Given the description of an element on the screen output the (x, y) to click on. 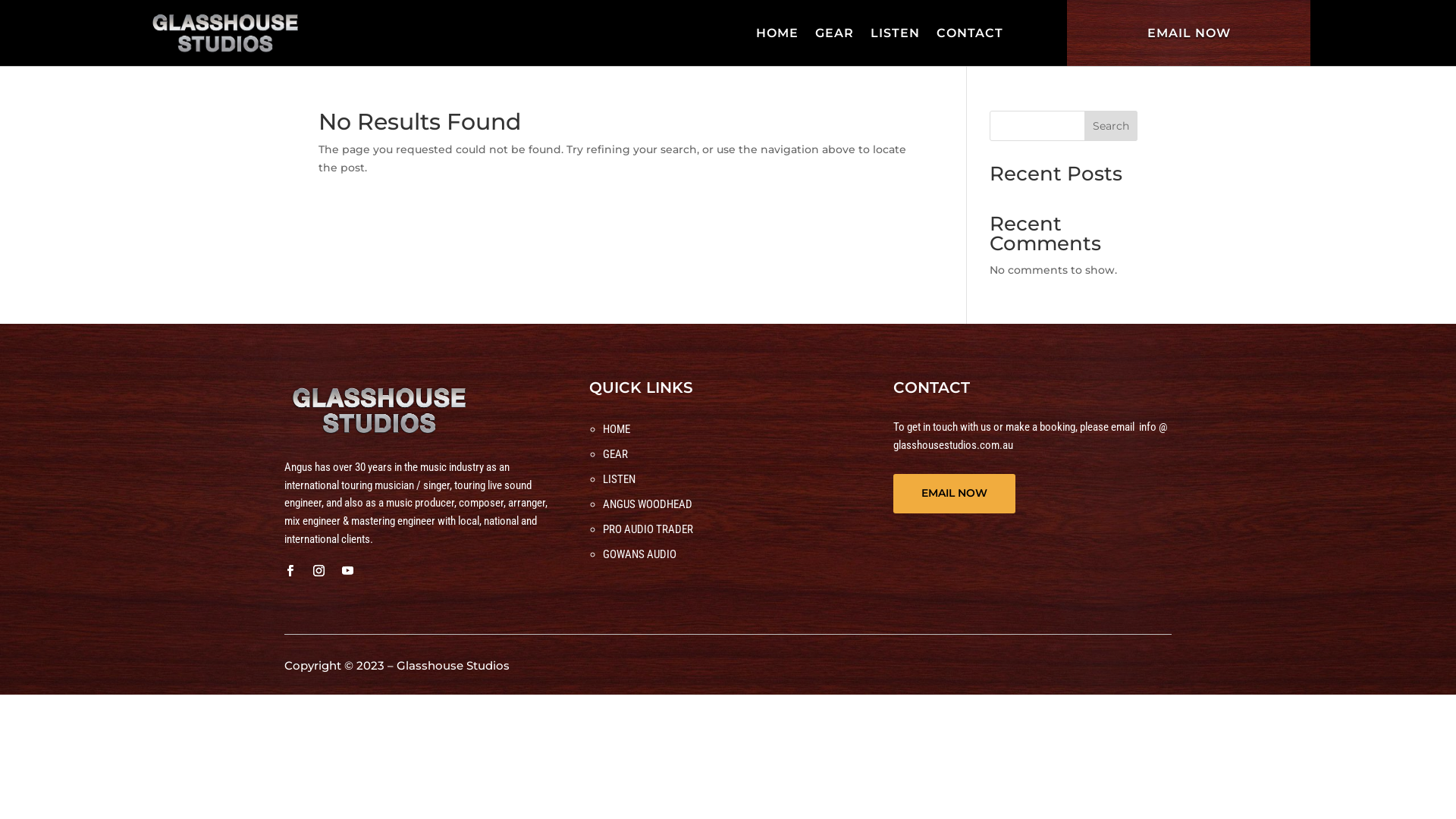
PRO AUDIO TRADER Element type: text (647, 529)
Glasshouse-Logo-Chromeweb Element type: hover (378, 409)
GEAR Element type: text (834, 32)
HOME Element type: text (616, 429)
HOME Element type: text (777, 32)
EMAIL NOW Element type: text (954, 493)
EMAIL NOW Element type: text (1188, 32)
GOWANS AUDIO Element type: text (639, 554)
GEAR Element type: text (614, 454)
Follow on Youtube Element type: hover (346, 570)
CONTACT Element type: text (969, 32)
LISTEN Element type: text (894, 32)
Follow on Facebook Element type: hover (289, 570)
LISTEN Element type: text (618, 479)
Follow on Instagram Element type: hover (318, 570)
ANGUS WOODHEAD Element type: text (647, 504)
Search Element type: text (1110, 125)
